Given the description of an element on the screen output the (x, y) to click on. 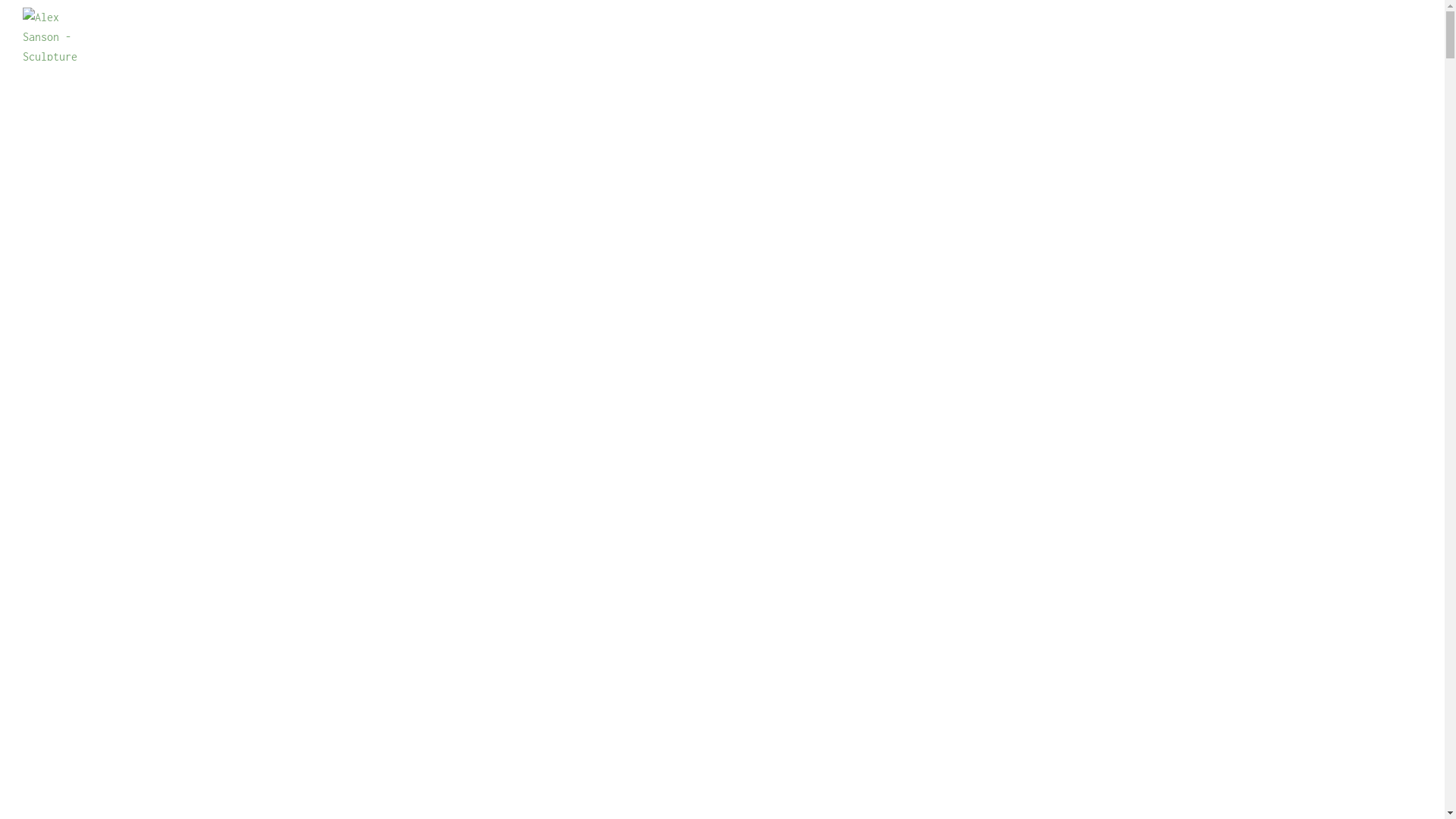
FESTIVALS & EVENTS Element type: text (708, 34)
ABOUT Element type: text (502, 34)
METAL WORK Element type: text (841, 34)
HOME Element type: text (442, 34)
SCULPTURE Element type: text (581, 34)
CONTACT Element type: text (989, 34)
BLOG Element type: text (923, 34)
